Given the description of an element on the screen output the (x, y) to click on. 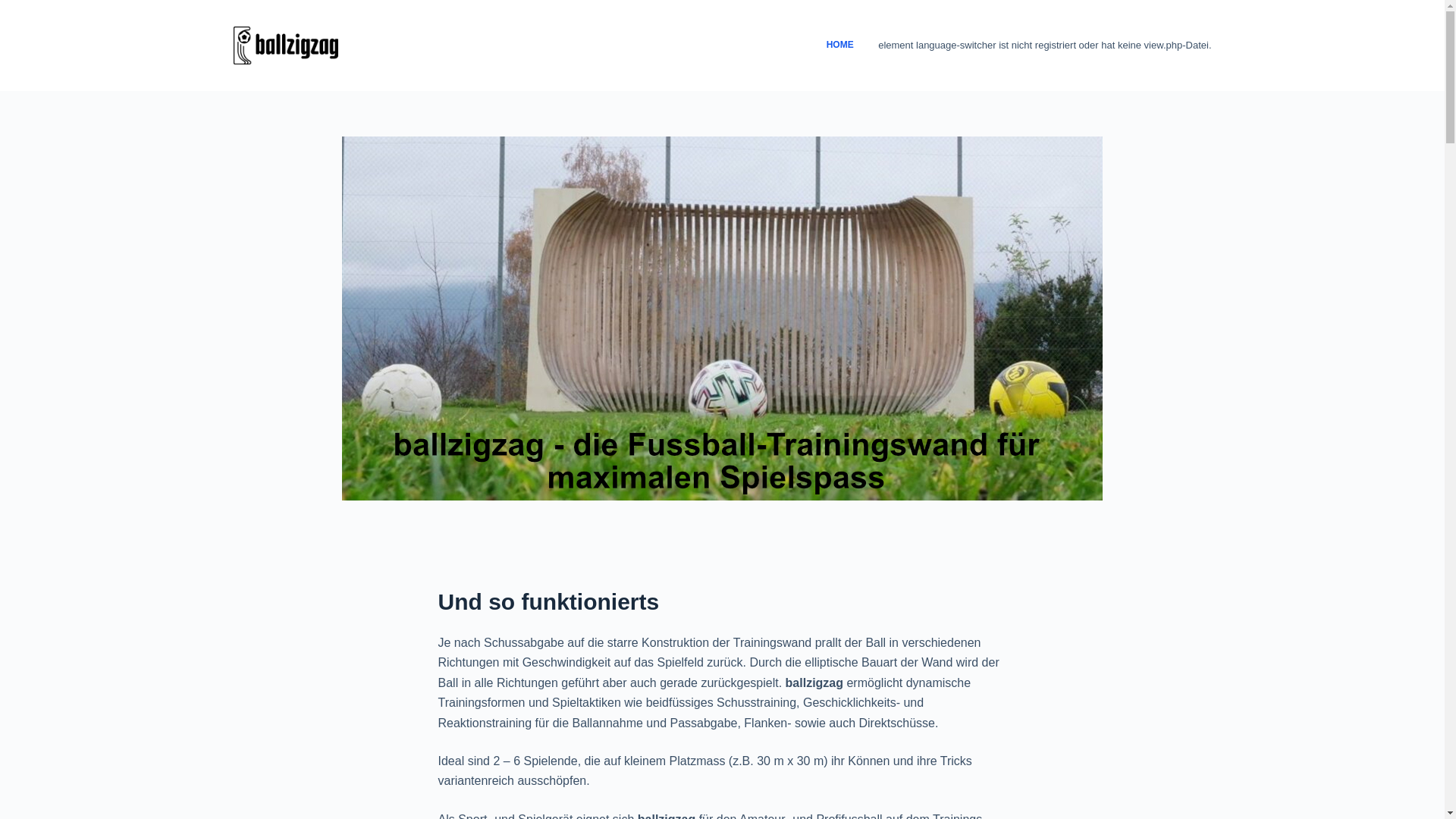
HOME Element type: text (839, 45)
Zum Inhalt springen Element type: text (15, 7)
